Given the description of an element on the screen output the (x, y) to click on. 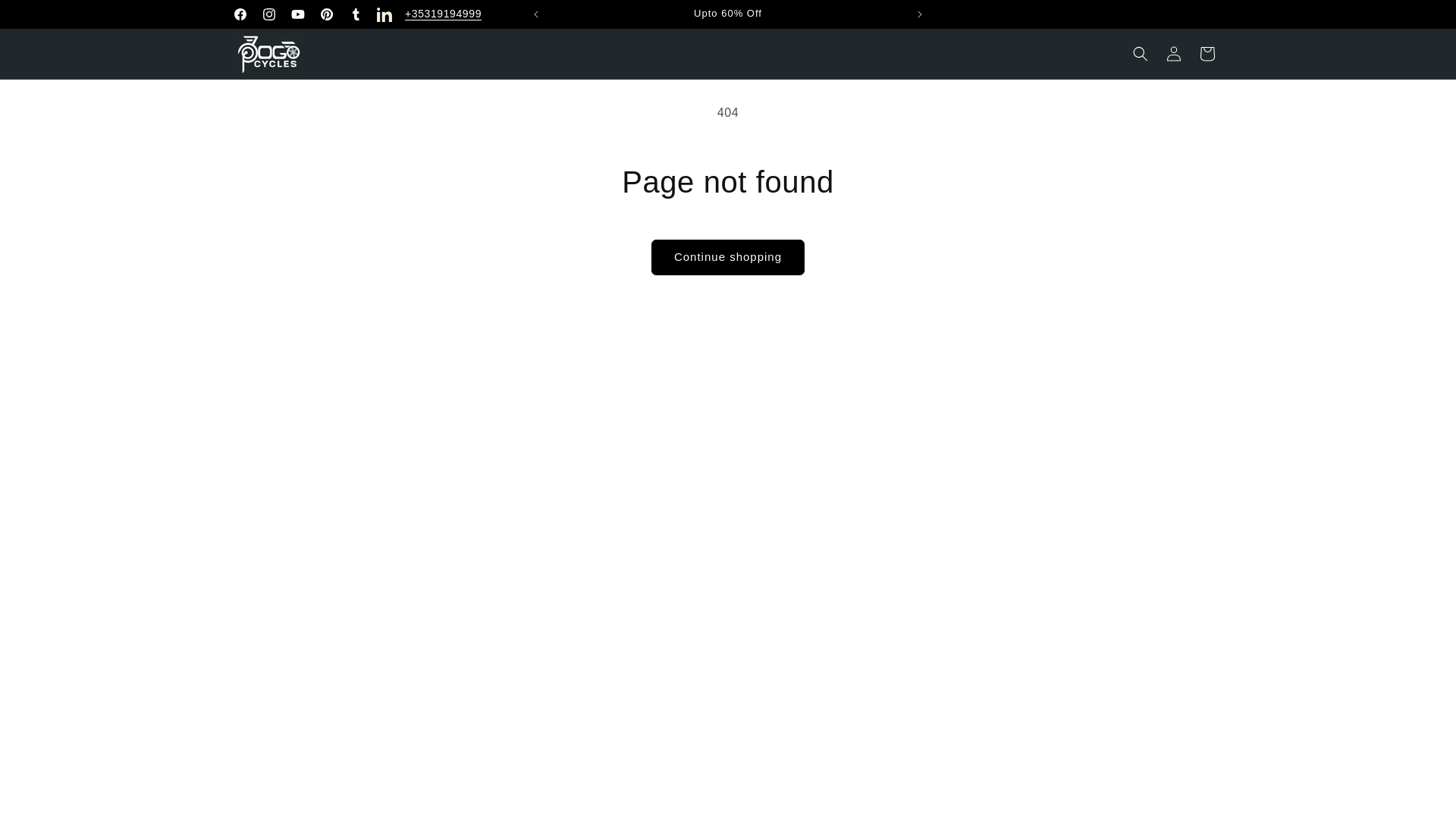
LinkedIn (383, 14)
YouTube (298, 14)
Tumblr (354, 14)
Skip to content (45, 17)
Facebook (239, 14)
Pinterest (326, 14)
Instagram (268, 14)
